Given the description of an element on the screen output the (x, y) to click on. 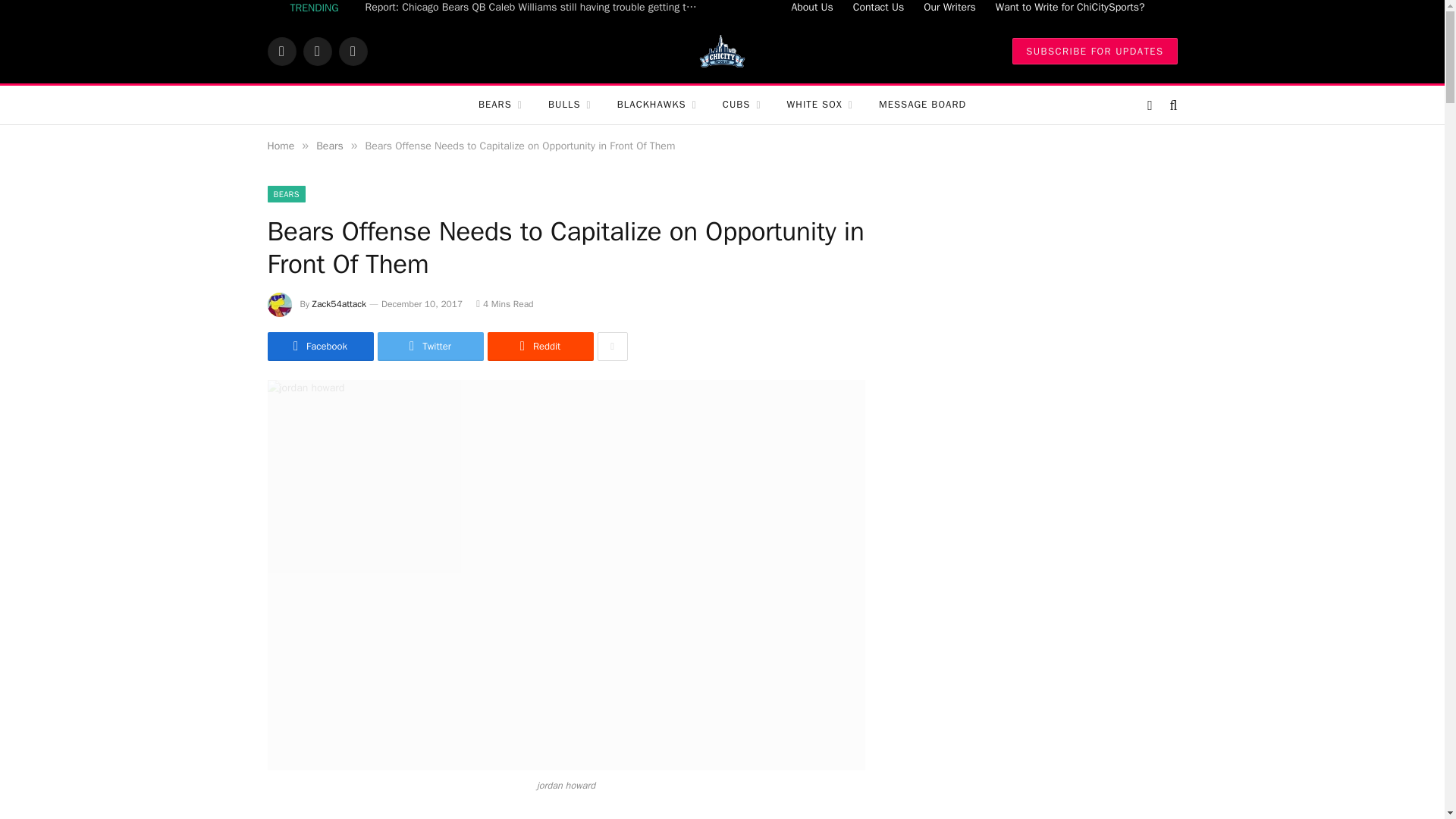
Posts by Zack54attack (339, 304)
Share on Reddit (539, 346)
Show More Social Sharing (611, 346)
Switch to Dark Design - easier on eyes. (1149, 105)
Share on Facebook (319, 346)
Share on Twitter (430, 346)
